Given the description of an element on the screen output the (x, y) to click on. 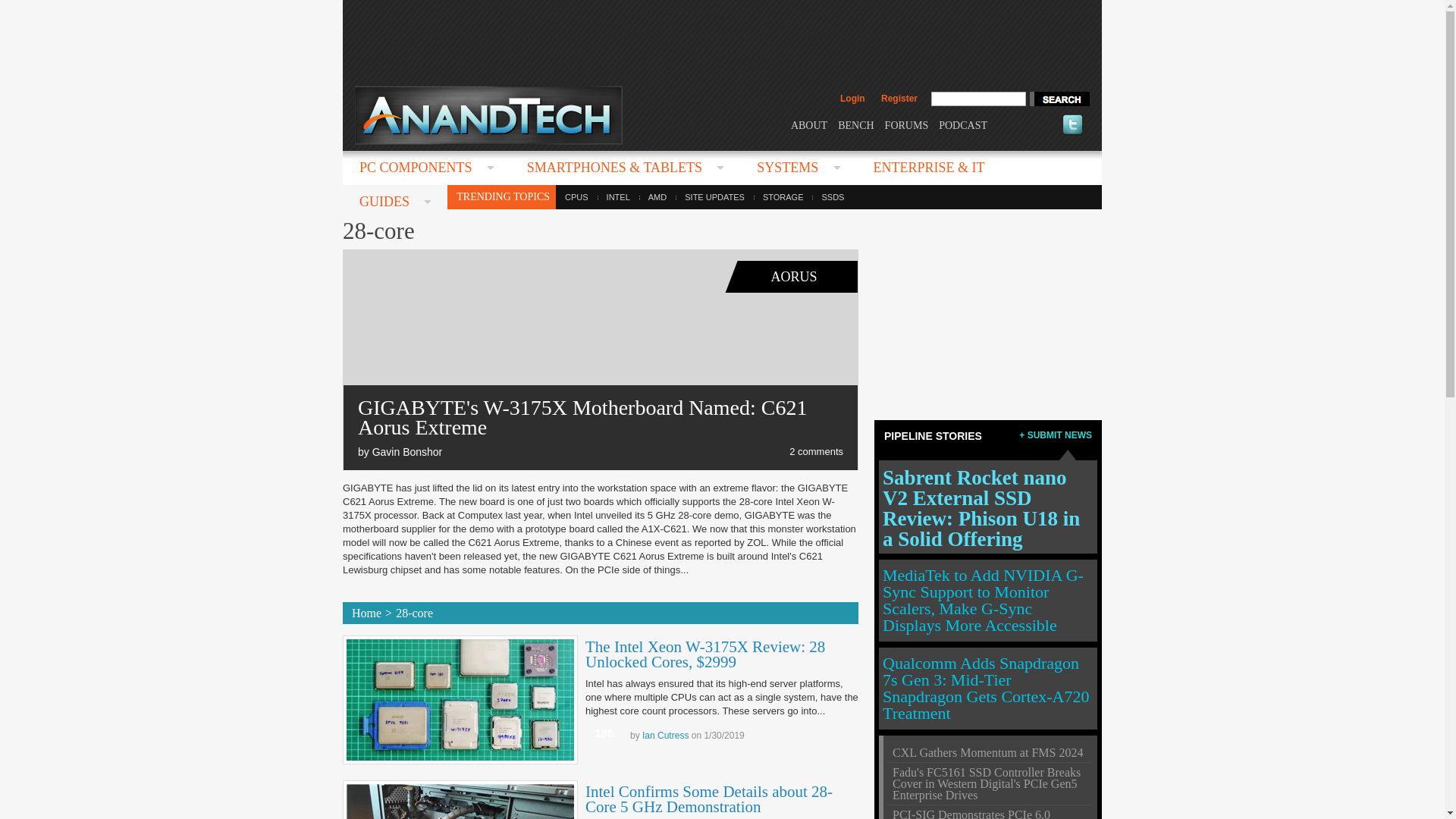
ABOUT (808, 125)
search (1059, 98)
Register (898, 98)
search (1059, 98)
PODCAST (963, 125)
Login (852, 98)
FORUMS (906, 125)
search (1059, 98)
BENCH (855, 125)
